Given the description of an element on the screen output the (x, y) to click on. 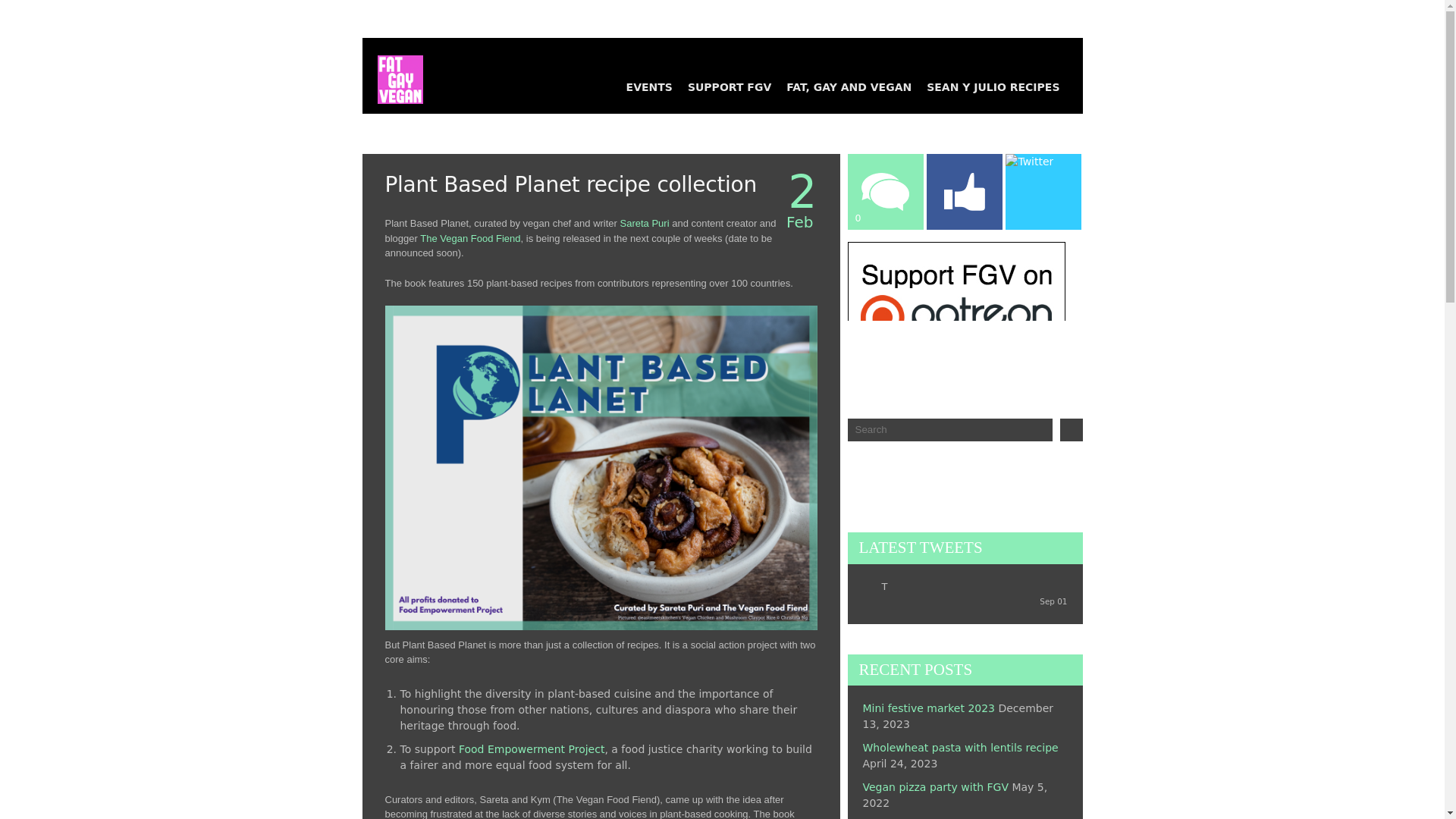
Food Empowerment Project (531, 748)
Tweet (1035, 85)
SUPPORT FGV (728, 86)
EVENTS (648, 86)
The Vegan Food Fiend (469, 237)
Reply (884, 119)
Fat Gay Vegan (392, 70)
FAT, GAY AND VEGAN (848, 86)
